Given the description of an element on the screen output the (x, y) to click on. 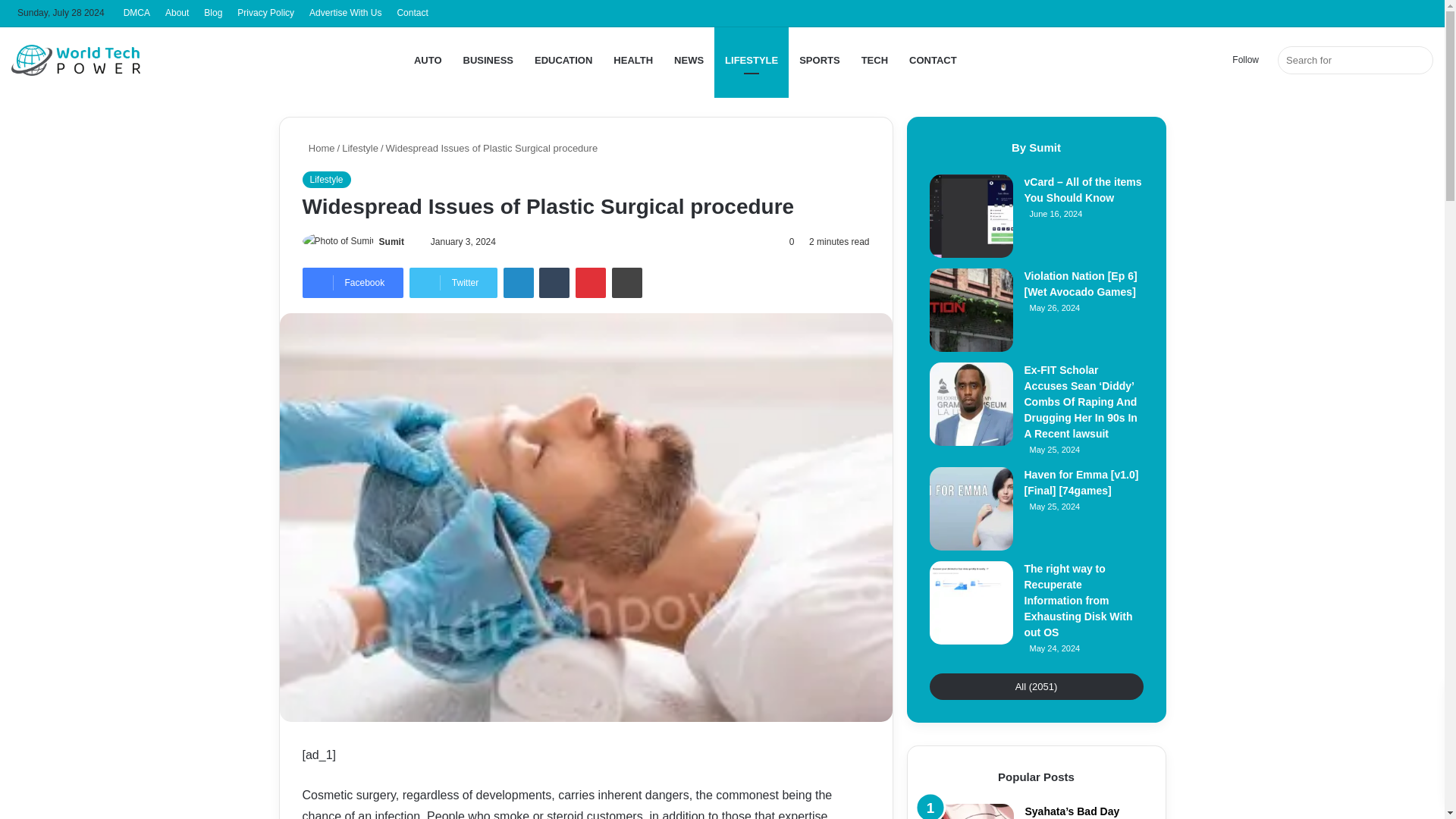
Privacy Policy (265, 13)
Blog (213, 13)
BUSINESS (488, 60)
HEALTH (632, 60)
DMCA (136, 13)
About (176, 13)
Lifestyle (360, 147)
Home (317, 147)
Lifestyle (325, 179)
LIFESTYLE (751, 60)
Twitter (453, 282)
Search for (1355, 59)
Sumit (391, 241)
LinkedIn (518, 282)
Sumit (391, 241)
